Given the description of an element on the screen output the (x, y) to click on. 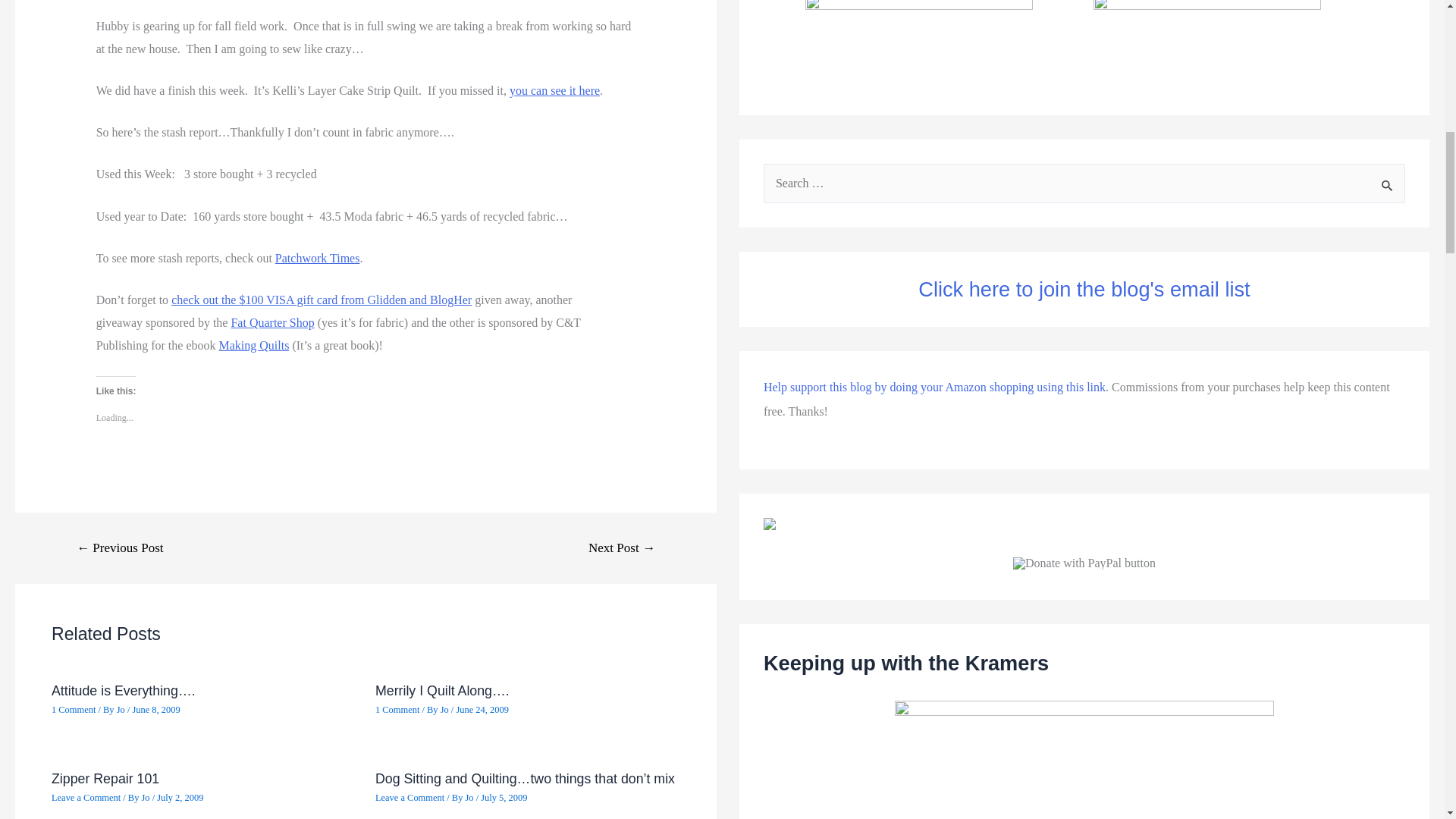
PayPal - The safer, easier way to pay online! (1084, 563)
View all posts by Jo (122, 709)
View all posts by Jo (146, 797)
View all posts by Jo (446, 709)
View all posts by Jo (470, 797)
